Given the description of an element on the screen output the (x, y) to click on. 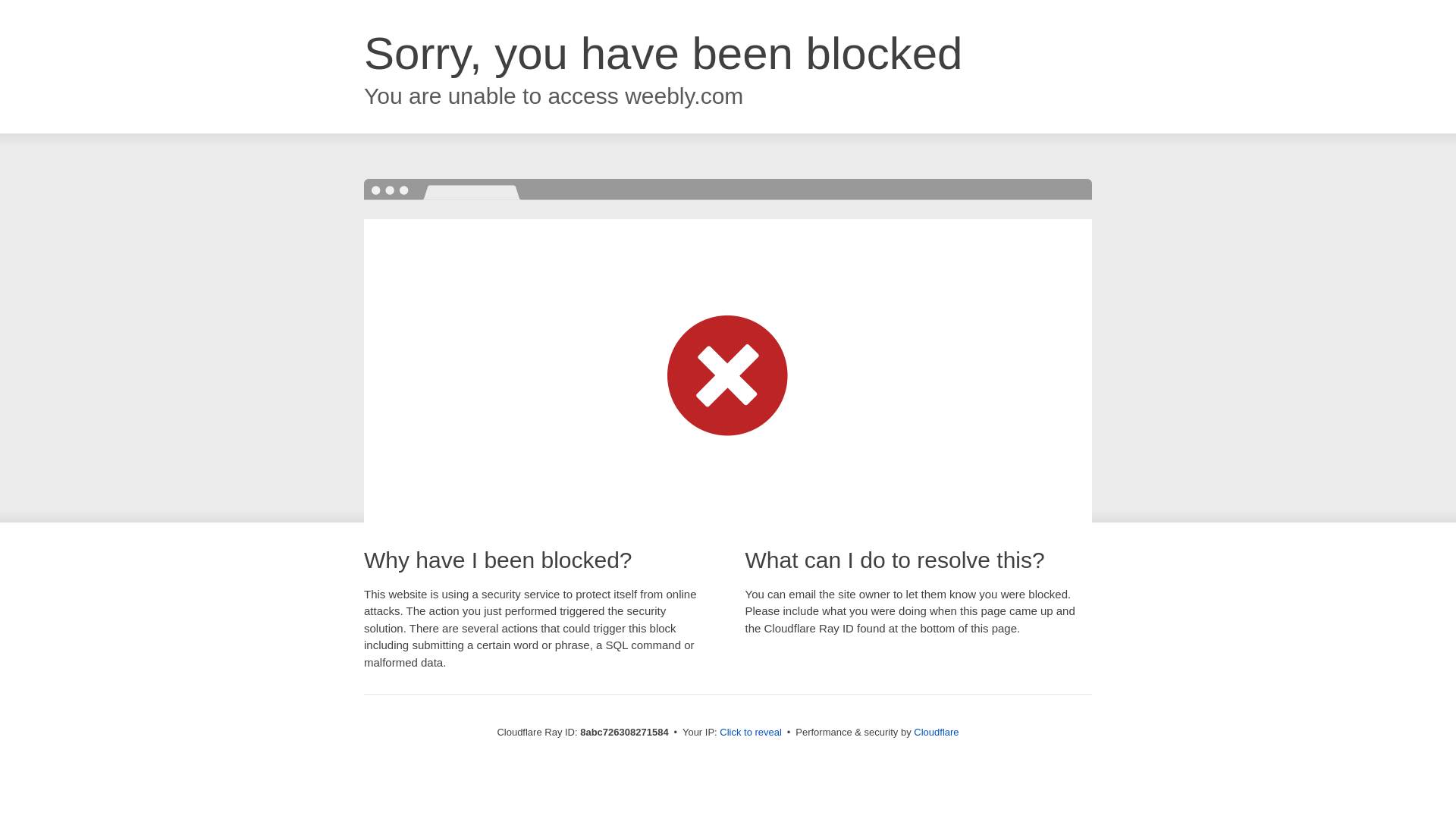
Cloudflare (936, 731)
Click to reveal (750, 732)
